Given the description of an element on the screen output the (x, y) to click on. 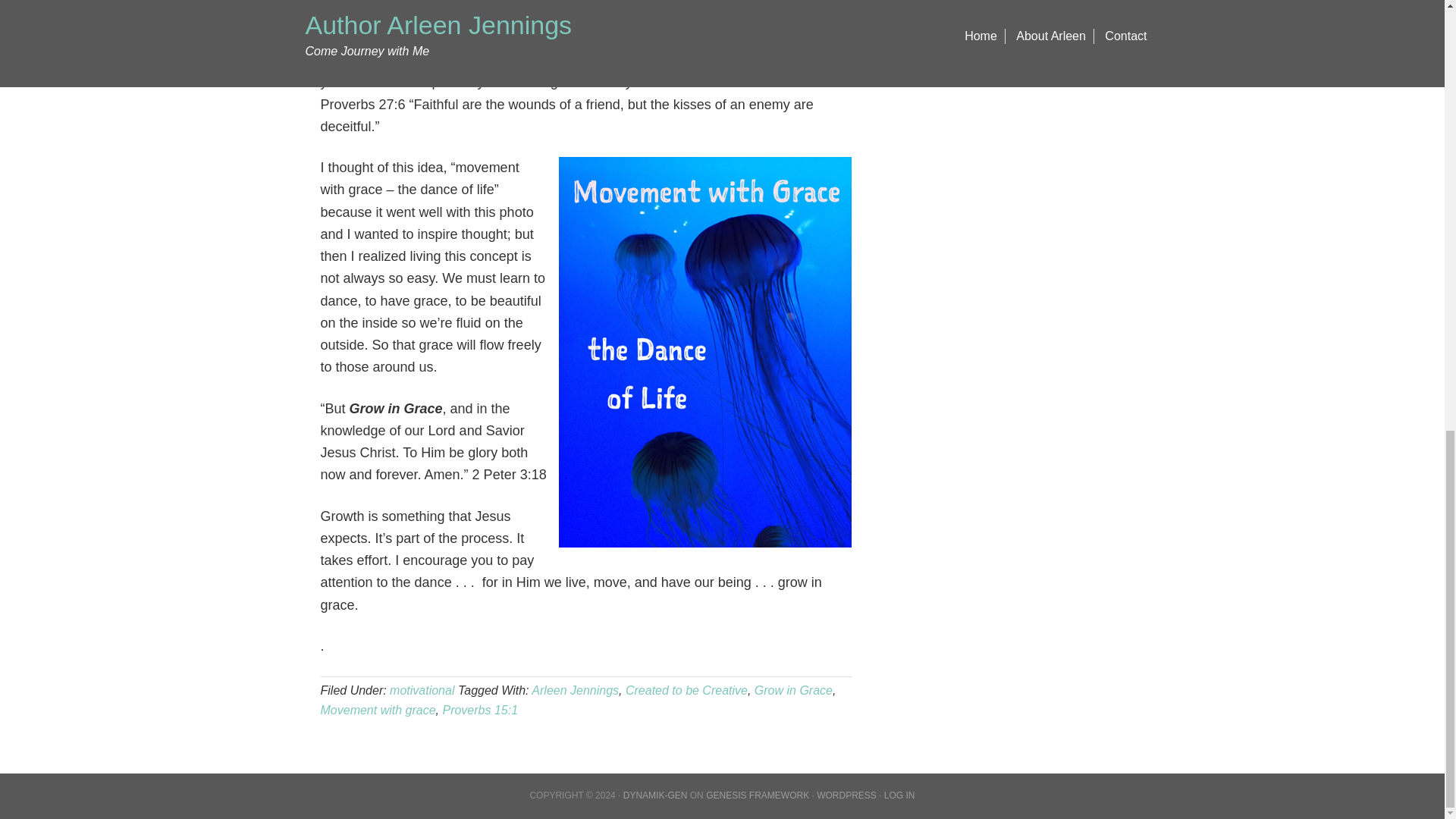
GENESIS FRAMEWORK (757, 795)
DYNAMIK-GEN (655, 795)
motivational (422, 689)
WORDPRESS (846, 795)
Grow in Grace (793, 689)
LOG IN (899, 795)
Movement with grace (377, 709)
Arleen Jennings (574, 689)
Created to be Creative (687, 689)
Proverbs 15:1 (480, 709)
